Given the description of an element on the screen output the (x, y) to click on. 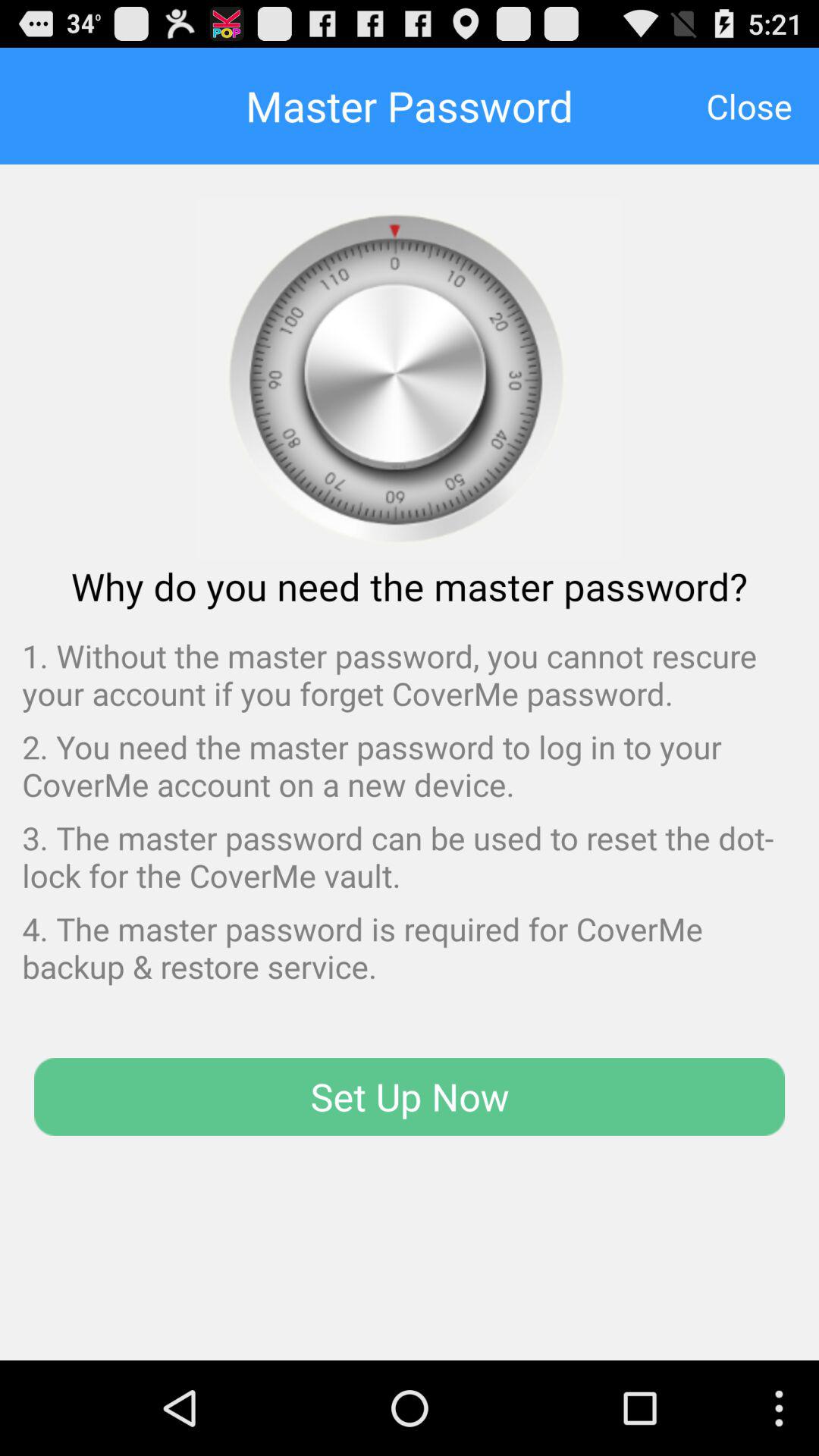
press app at the top right corner (749, 106)
